Given the description of an element on the screen output the (x, y) to click on. 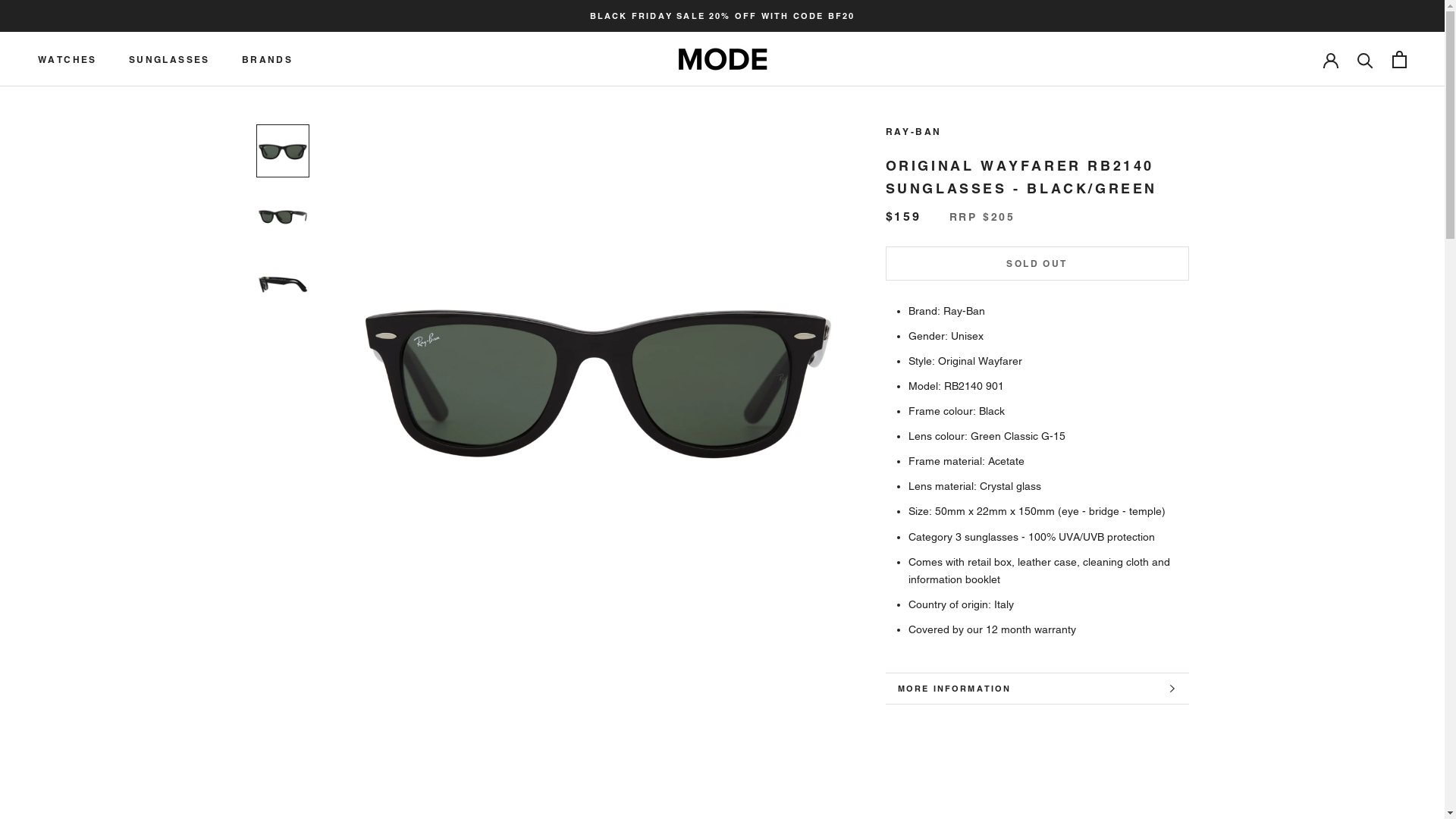
BRANDS Element type: text (266, 59)
WATCHES Element type: text (67, 59)
SUNGLASSES Element type: text (169, 59)
MORE INFORMATION Element type: text (1037, 688)
RAY-BAN Element type: text (913, 131)
SOLD OUT Element type: text (1037, 263)
